Given the description of an element on the screen output the (x, y) to click on. 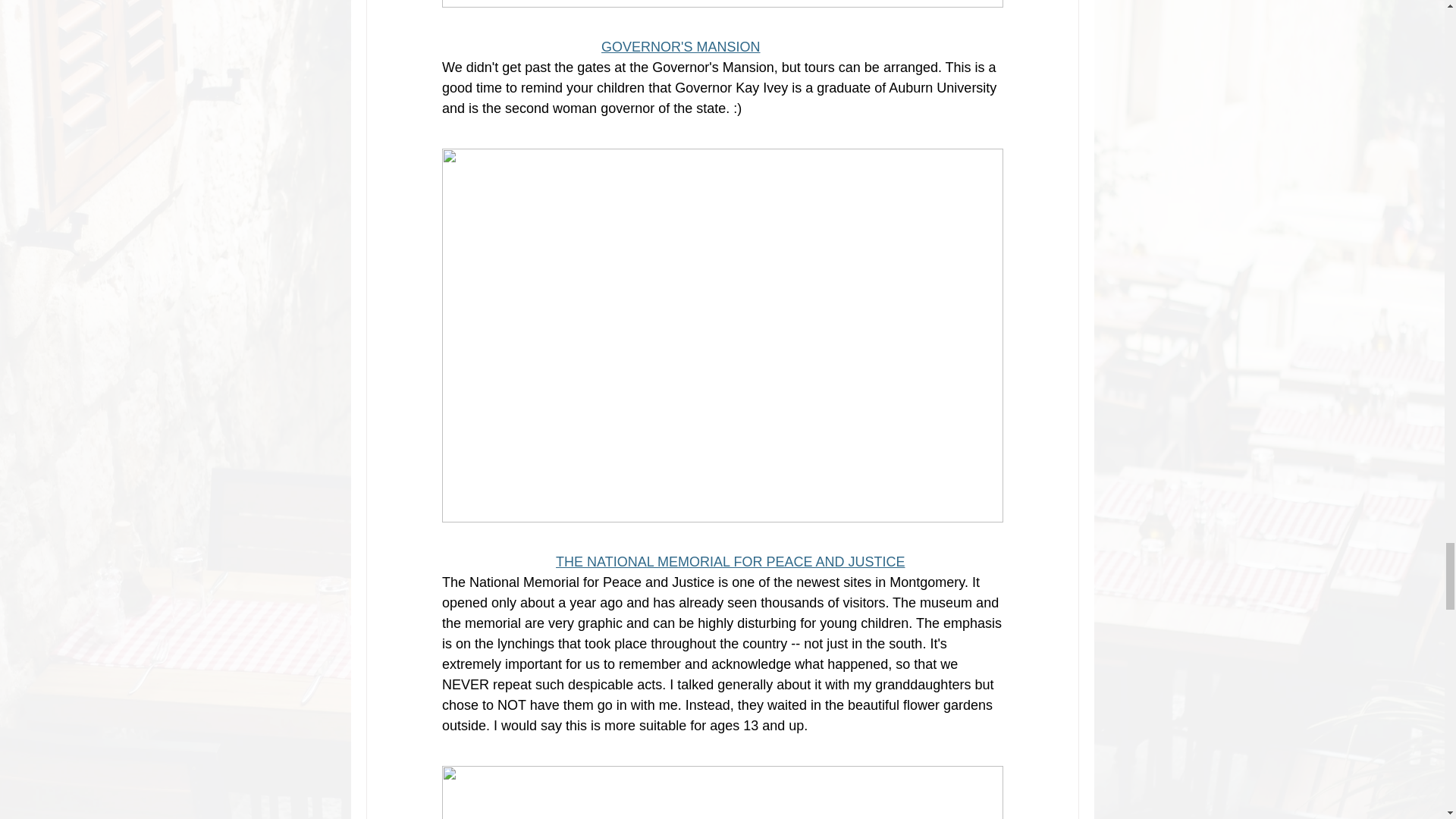
GOVERNOR'S MANSION (680, 46)
THE NATIONAL MEMORIAL FOR PEACE AND JUSTICE (730, 561)
